Given the description of an element on the screen output the (x, y) to click on. 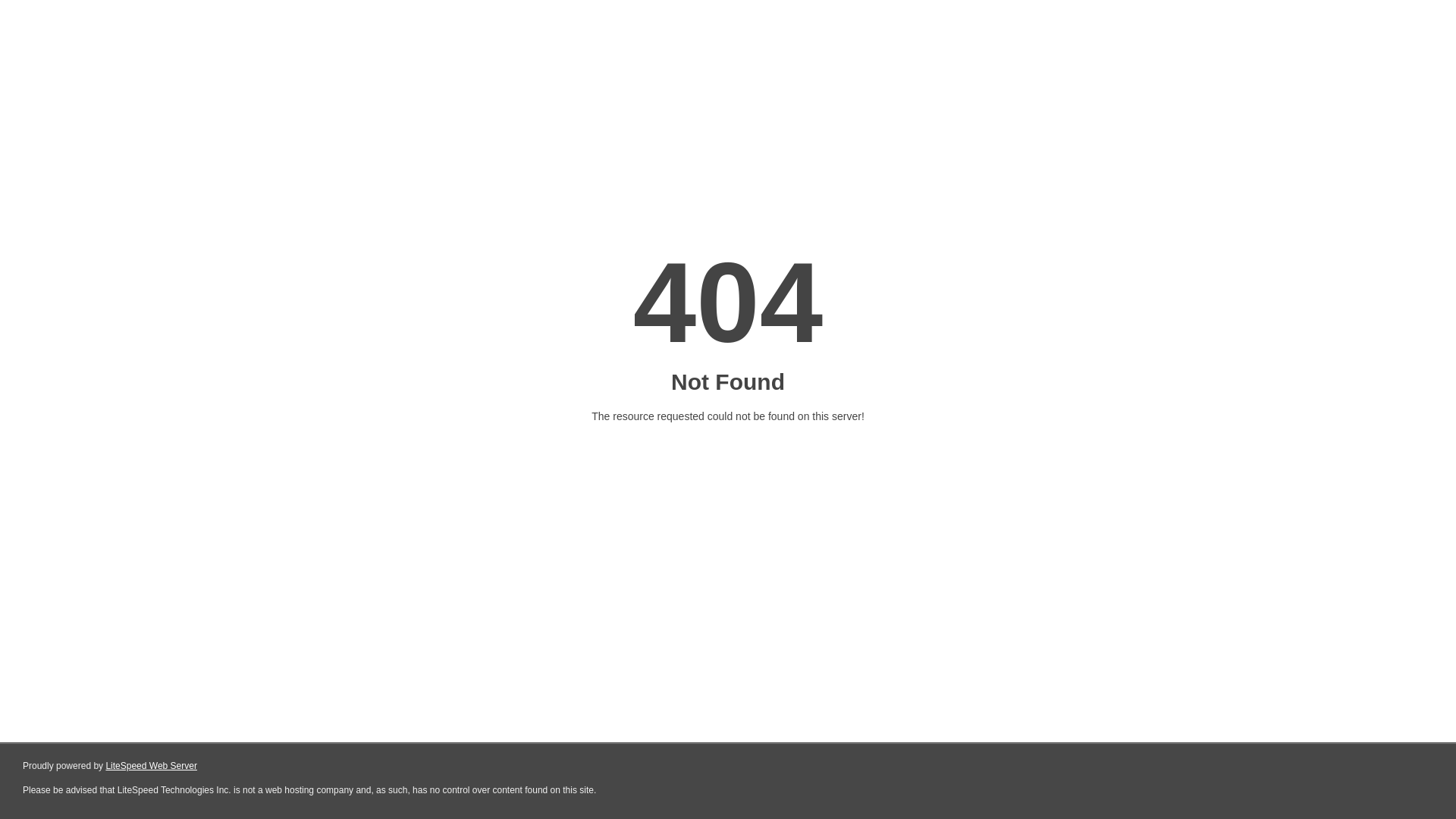
LiteSpeed Web Server Element type: text (151, 765)
